Given the description of an element on the screen output the (x, y) to click on. 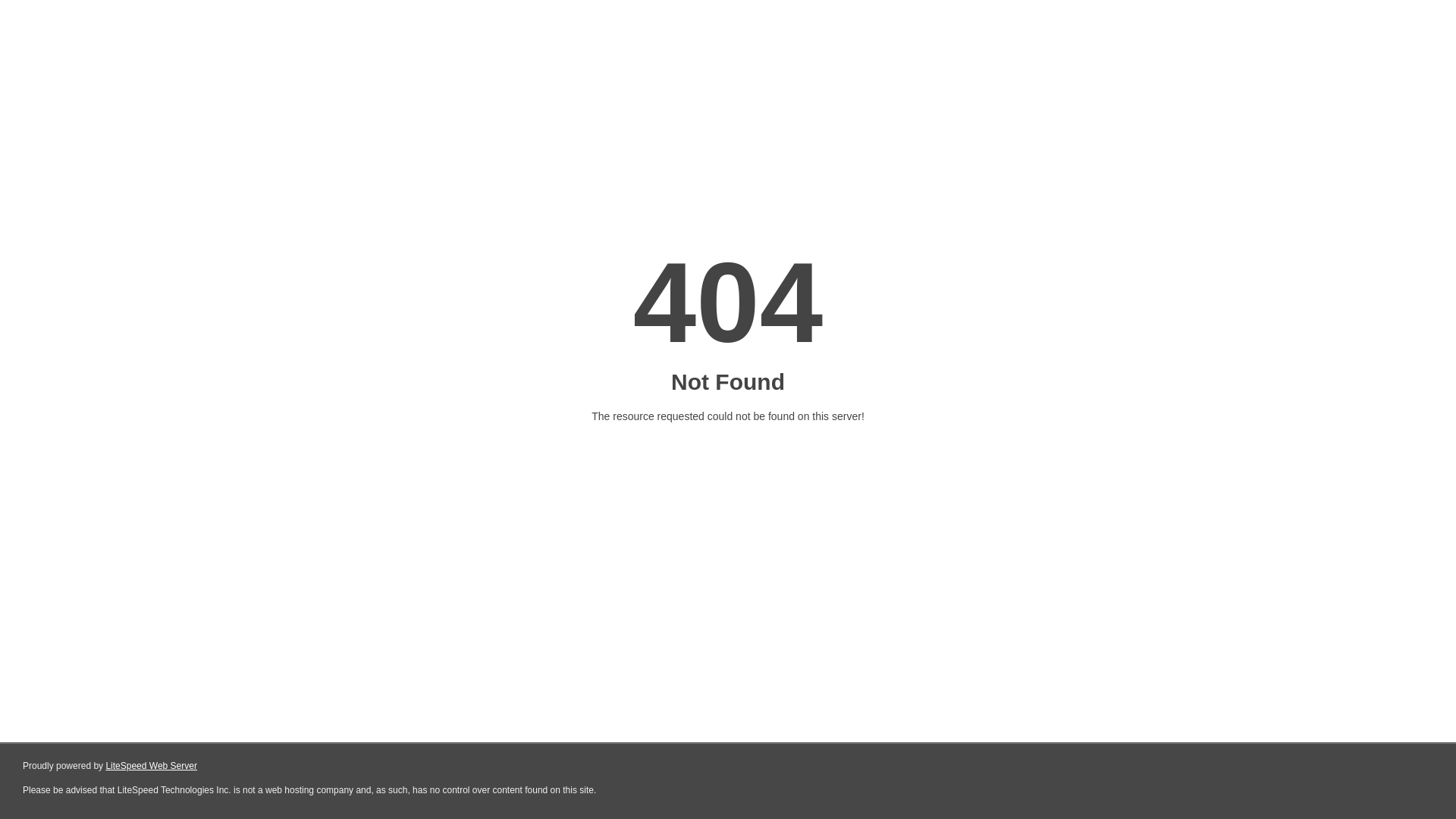
LiteSpeed Web Server Element type: text (151, 765)
